Given the description of an element on the screen output the (x, y) to click on. 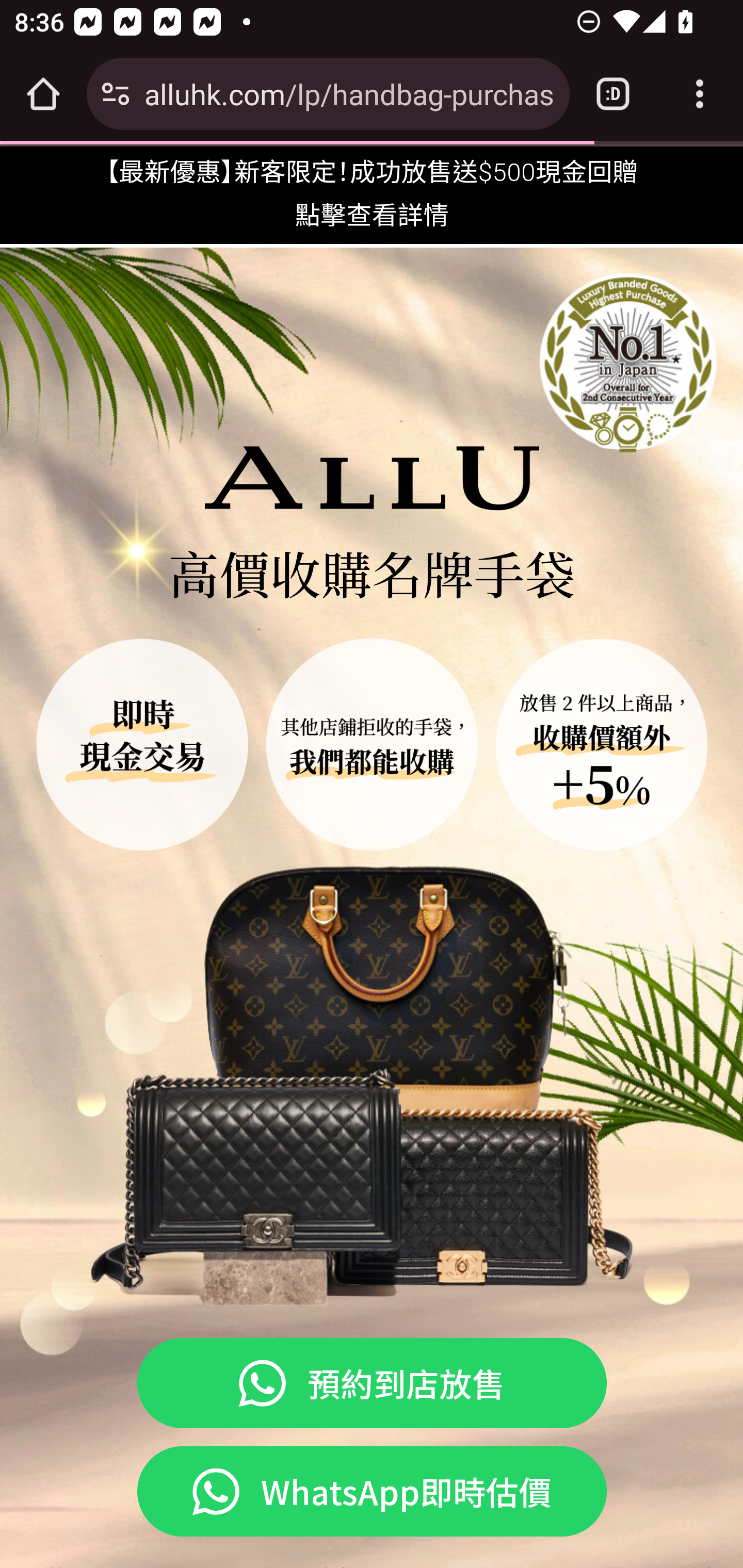
Open the home page (43, 93)
Connection is secure (115, 93)
Switch or close tabs (612, 93)
Customize and control Google Chrome (699, 93)
預約到店放售 (372, 1383)
WhatsApp即時估價 (372, 1491)
